Given the description of an element on the screen output the (x, y) to click on. 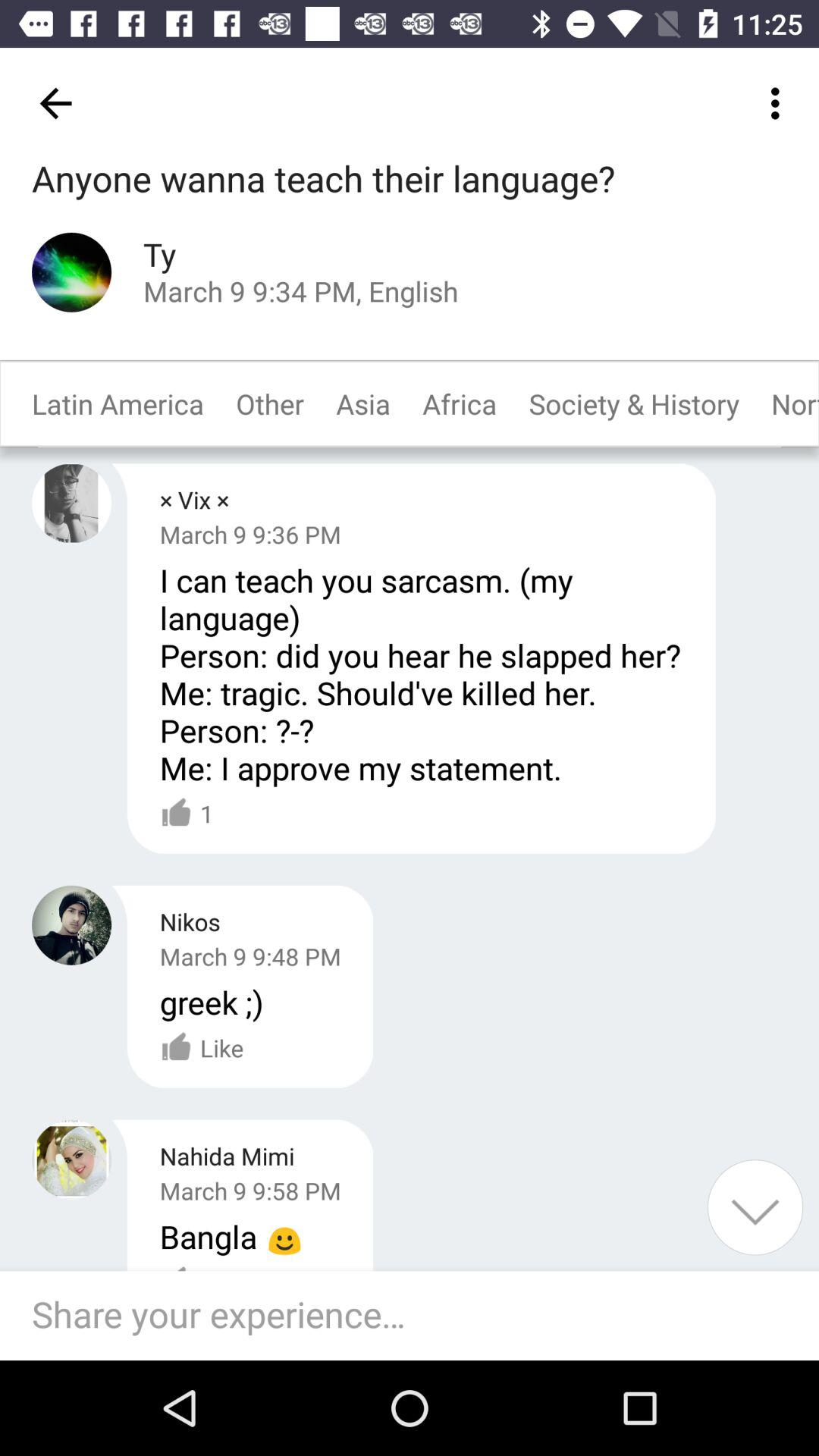
profile picture (71, 925)
